Given the description of an element on the screen output the (x, y) to click on. 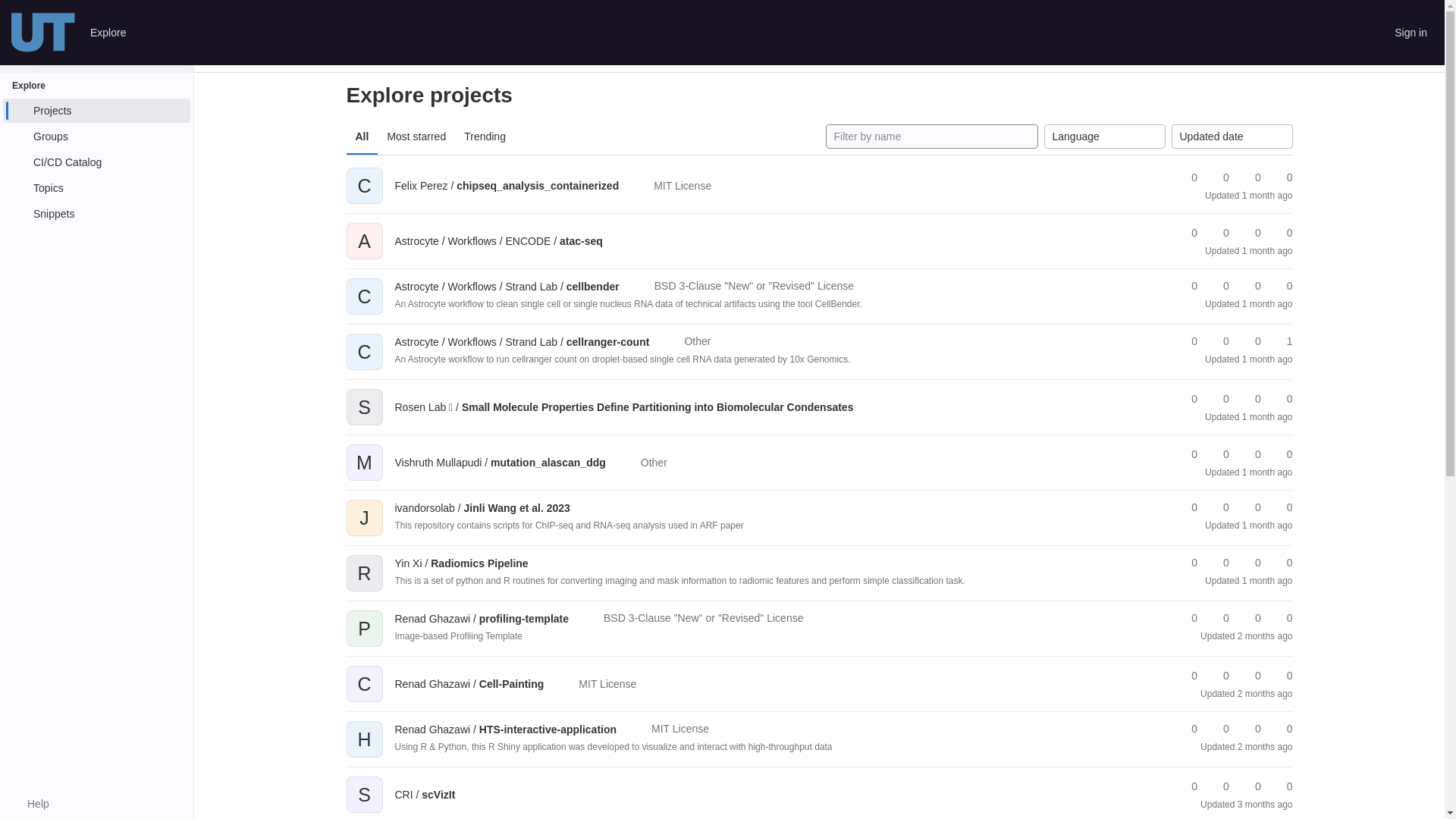
Explore BioHPC Git (252, 54)
Stars (1186, 177)
Homepage (43, 32)
Most starred (415, 135)
Explore (108, 32)
Language (1103, 136)
Topics (96, 187)
Stars (1186, 232)
Merge requests (1250, 232)
Trending (484, 135)
